Given the description of an element on the screen output the (x, y) to click on. 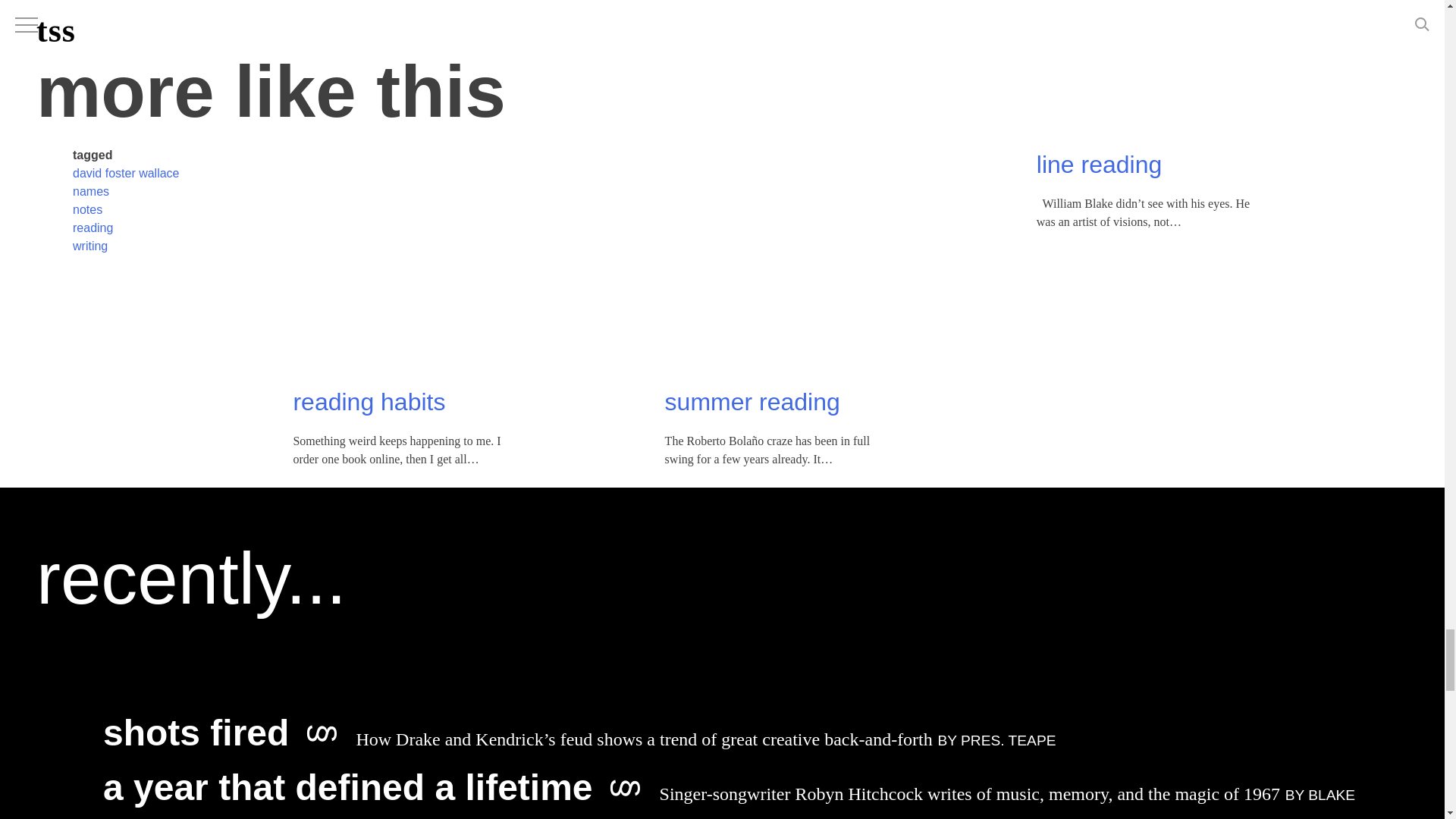
david foster wallace (125, 136)
reading habits (368, 365)
writing (89, 209)
reading (92, 191)
notes (86, 173)
names (90, 154)
line reading (1098, 128)
summer reading (752, 365)
Permanent Link to A Year that Defined a Lifetime (729, 800)
Permanent Link to Shots Fired (580, 738)
